Given the description of an element on the screen output the (x, y) to click on. 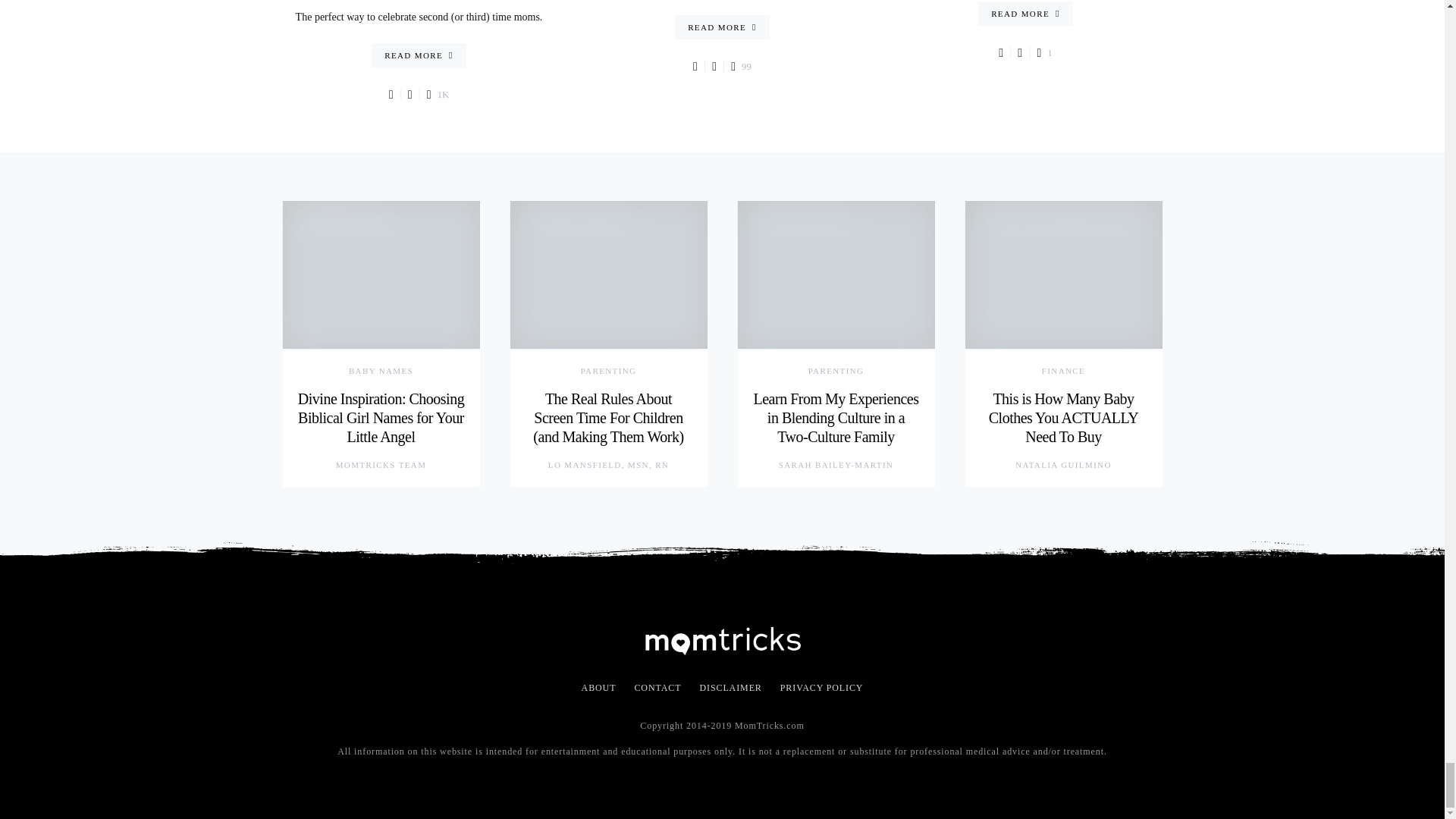
View all posts by Sarah Bailey-Martin (835, 464)
View all posts by Lo Mansfield, MSN, RN (608, 464)
View all posts by MomTricks Team (381, 464)
This is How Many Baby Clothes You ACTUALLY Need To Buy (1063, 417)
